Given the description of an element on the screen output the (x, y) to click on. 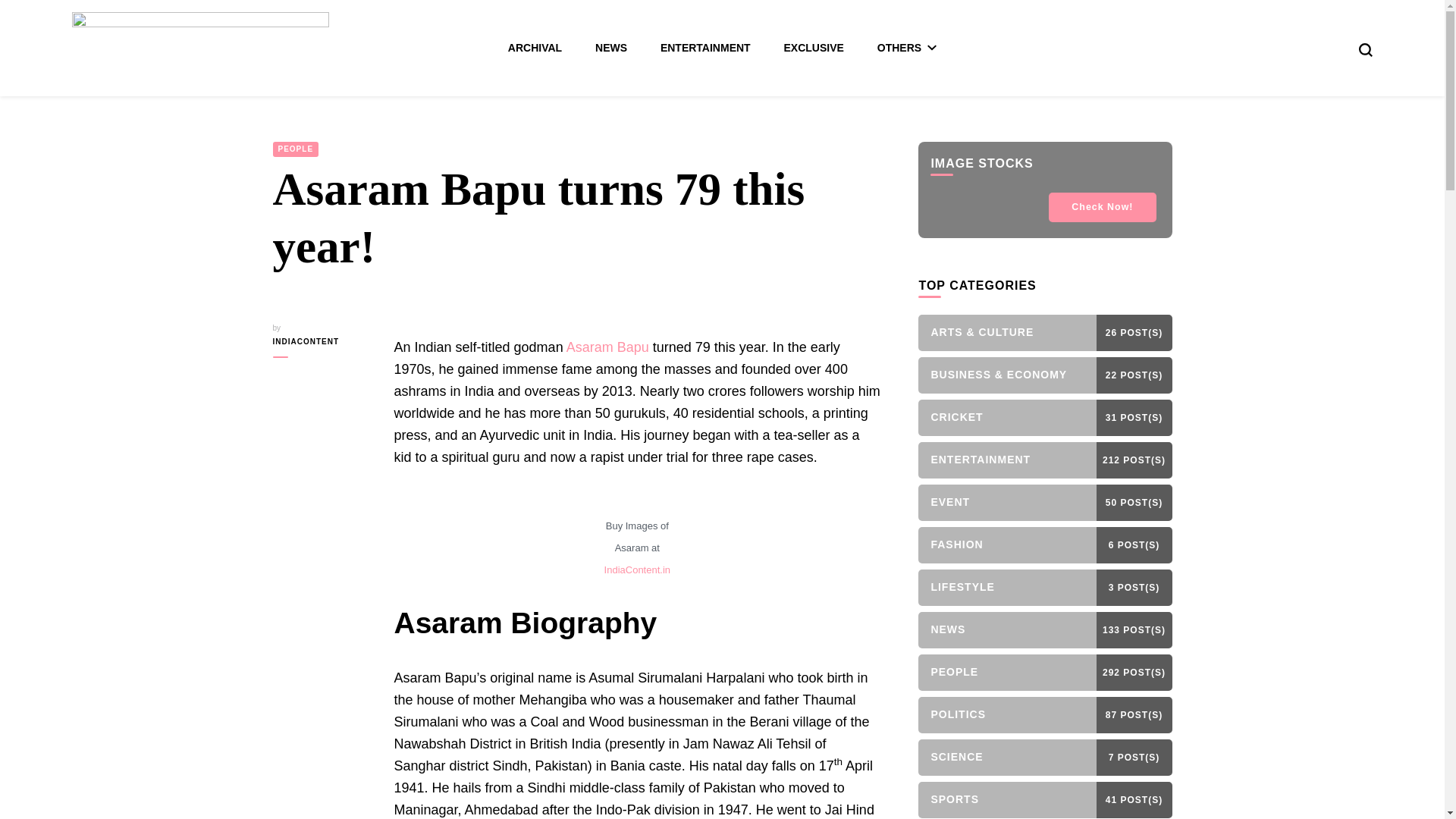
OTHERS (906, 47)
ARCHIVAL (535, 47)
ENTERTAINMENT (706, 47)
NEWS (611, 47)
EXCLUSIVE (814, 47)
